Given the description of an element on the screen output the (x, y) to click on. 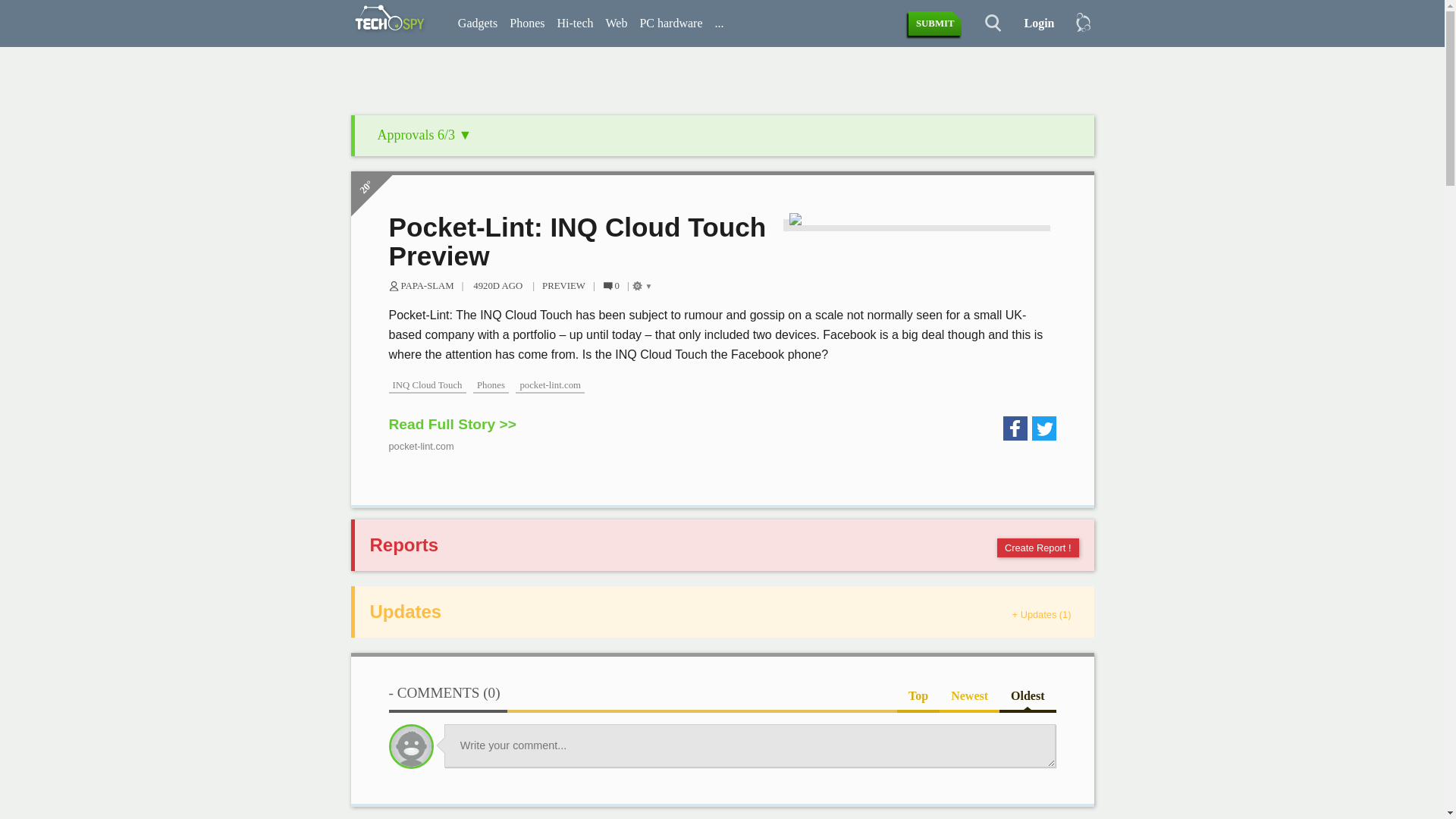
Phones (526, 24)
Hi-tech (574, 24)
SUBMIT (935, 23)
Gadgets (477, 24)
PC hardware (670, 24)
Web (615, 24)
Login (1033, 23)
Search (984, 23)
